Given the description of an element on the screen output the (x, y) to click on. 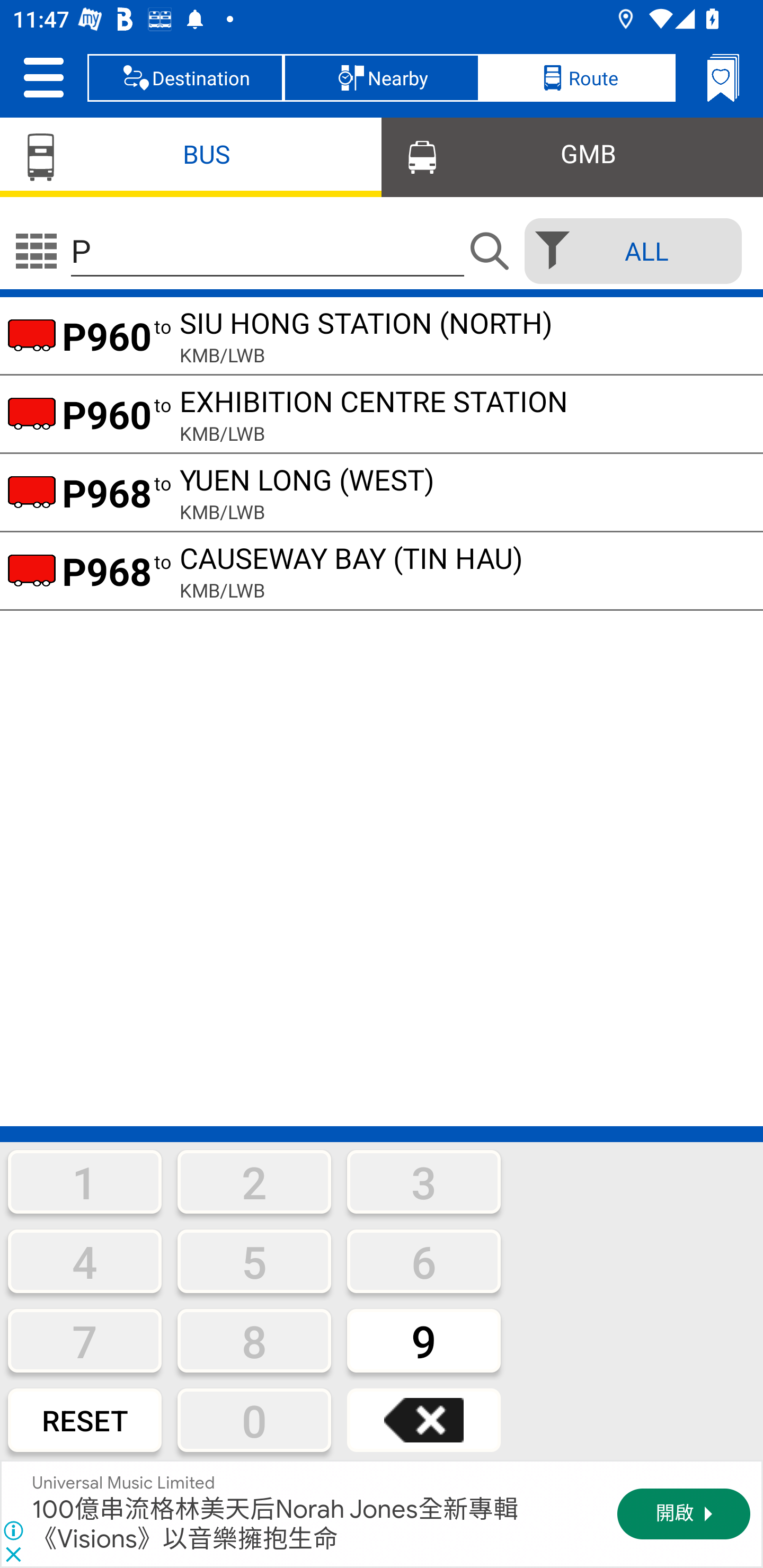
Destination (185, 77)
Nearby (381, 77)
Route, selected (577, 77)
Bookmarks (723, 77)
Setting (43, 77)
BUS, selected (190, 155)
GMB (572, 155)
selected ALL (627, 250)
no (36, 250)
1 (84, 1181)
2 (254, 1181)
3 (423, 1181)
4 (84, 1261)
5 (254, 1261)
6 (423, 1261)
7 (84, 1340)
8 (254, 1340)
9 (423, 1340)
RESET (84, 1419)
0 (254, 1419)
Universal Music Limited (123, 1483)
開啟 (683, 1513)
